Given the description of an element on the screen output the (x, y) to click on. 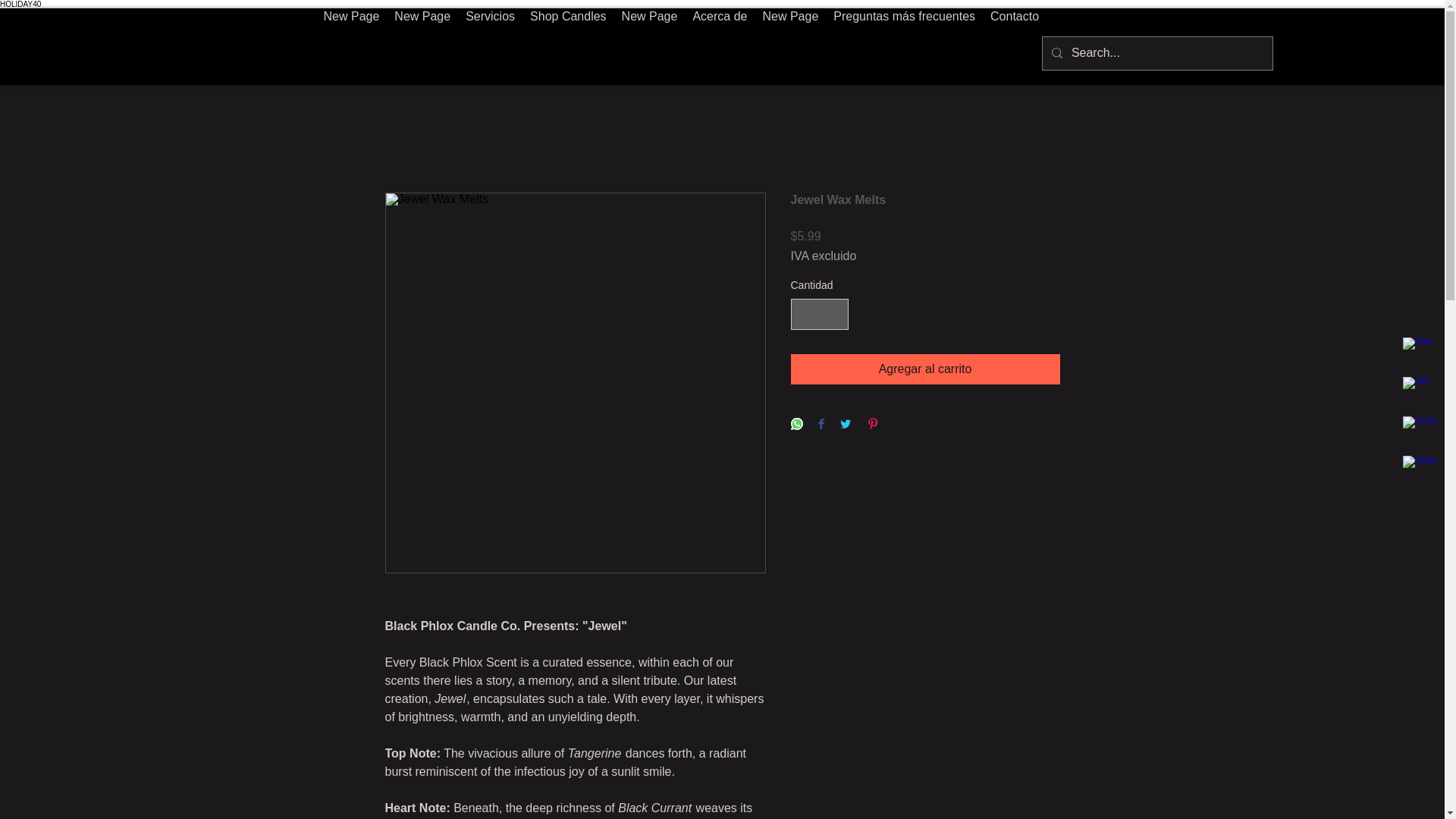
Acerca de (719, 46)
New Page (422, 46)
New Page (351, 46)
New Page (649, 46)
1 (818, 314)
New Page (789, 46)
New Page (1082, 46)
Agregar al carrito (924, 368)
